Given the description of an element on the screen output the (x, y) to click on. 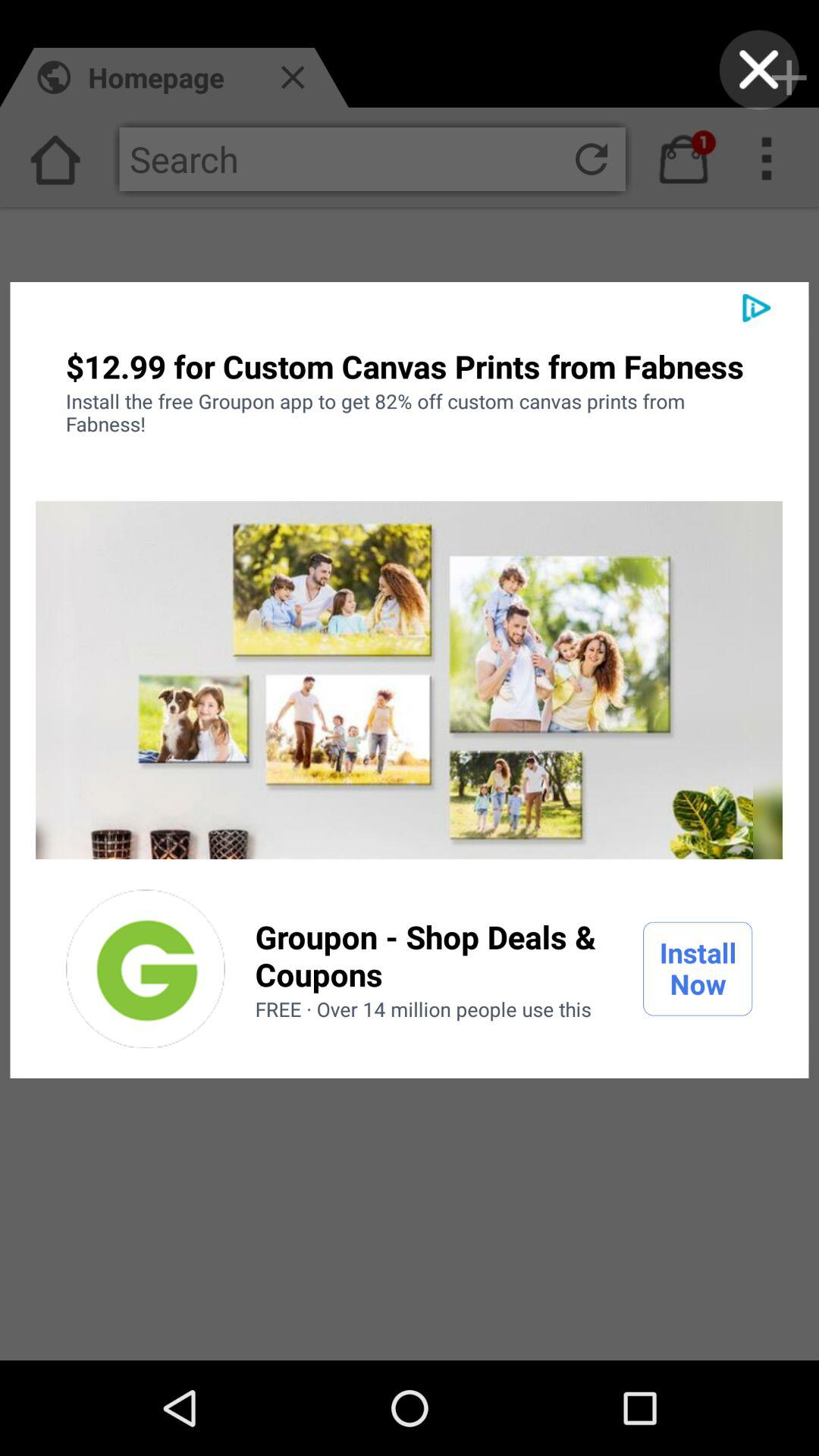
press the install now icon (697, 968)
